Given the description of an element on the screen output the (x, y) to click on. 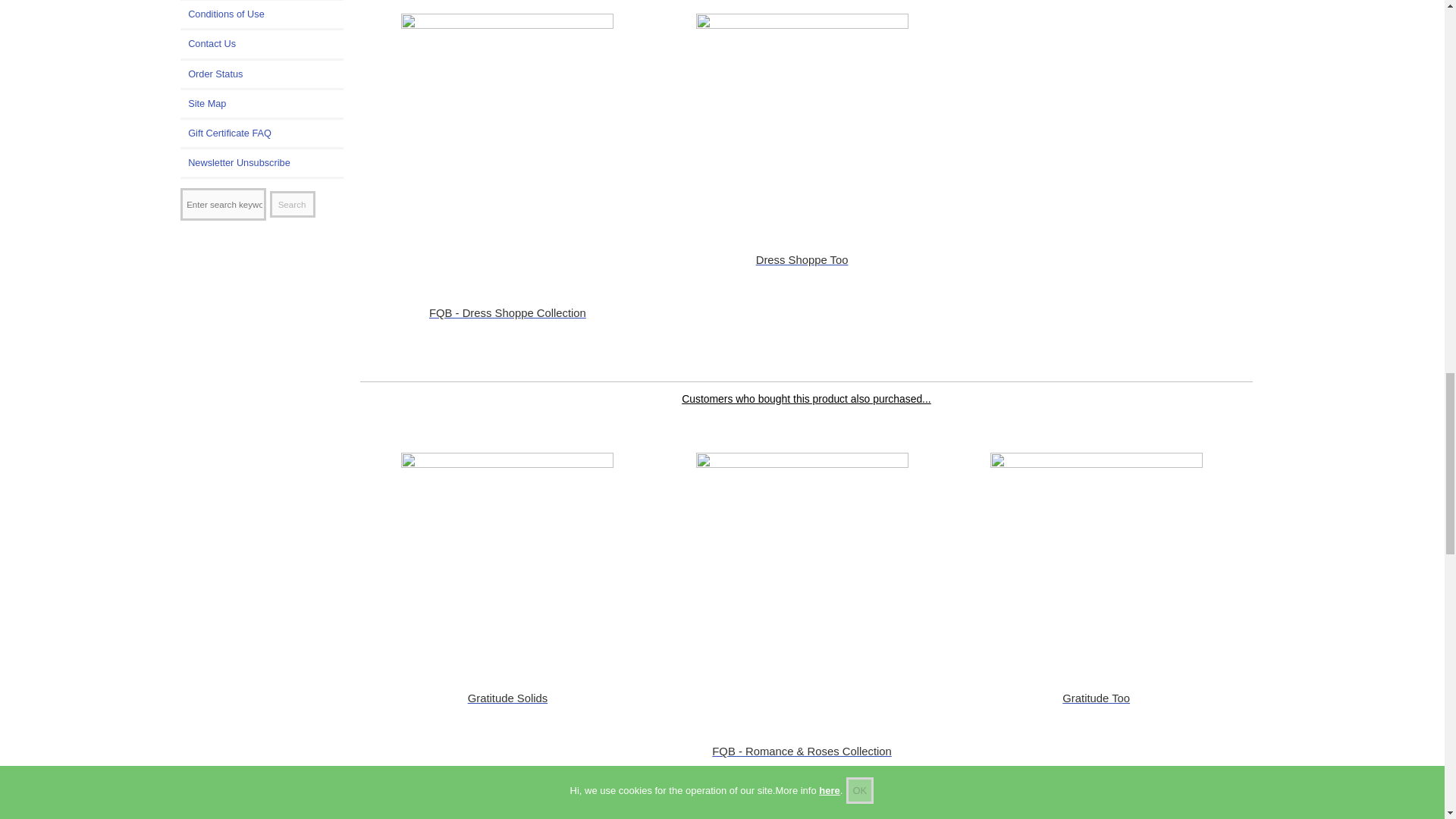
Order Status (261, 73)
Gratitude Too (1096, 558)
Dress Shoppe Too (801, 119)
Gratitude Solids (506, 558)
Search (292, 203)
Conditions of Use (261, 13)
Contact Us (261, 43)
